Given the description of an element on the screen output the (x, y) to click on. 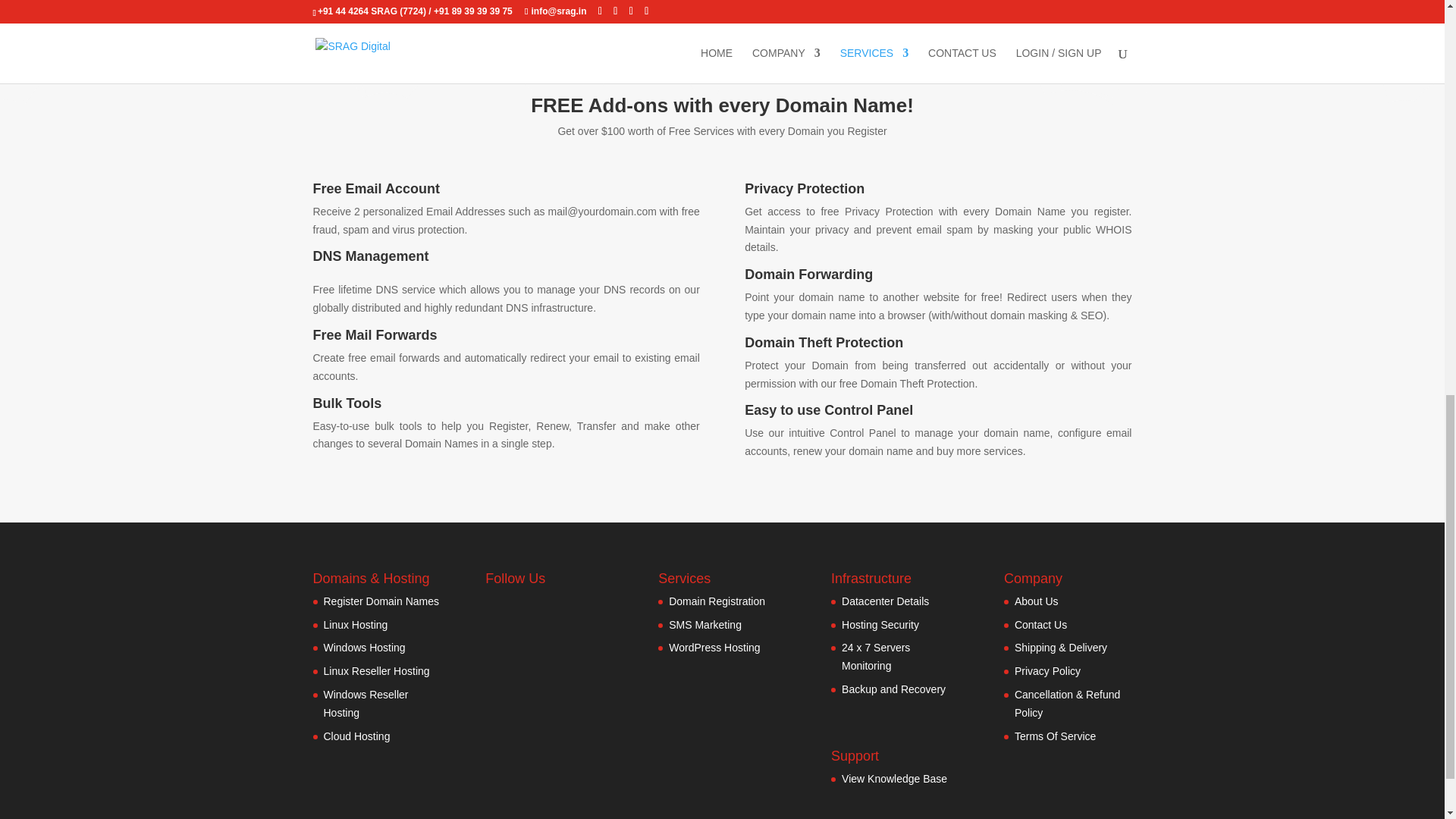
Register Domain Names (381, 601)
